Given the description of an element on the screen output the (x, y) to click on. 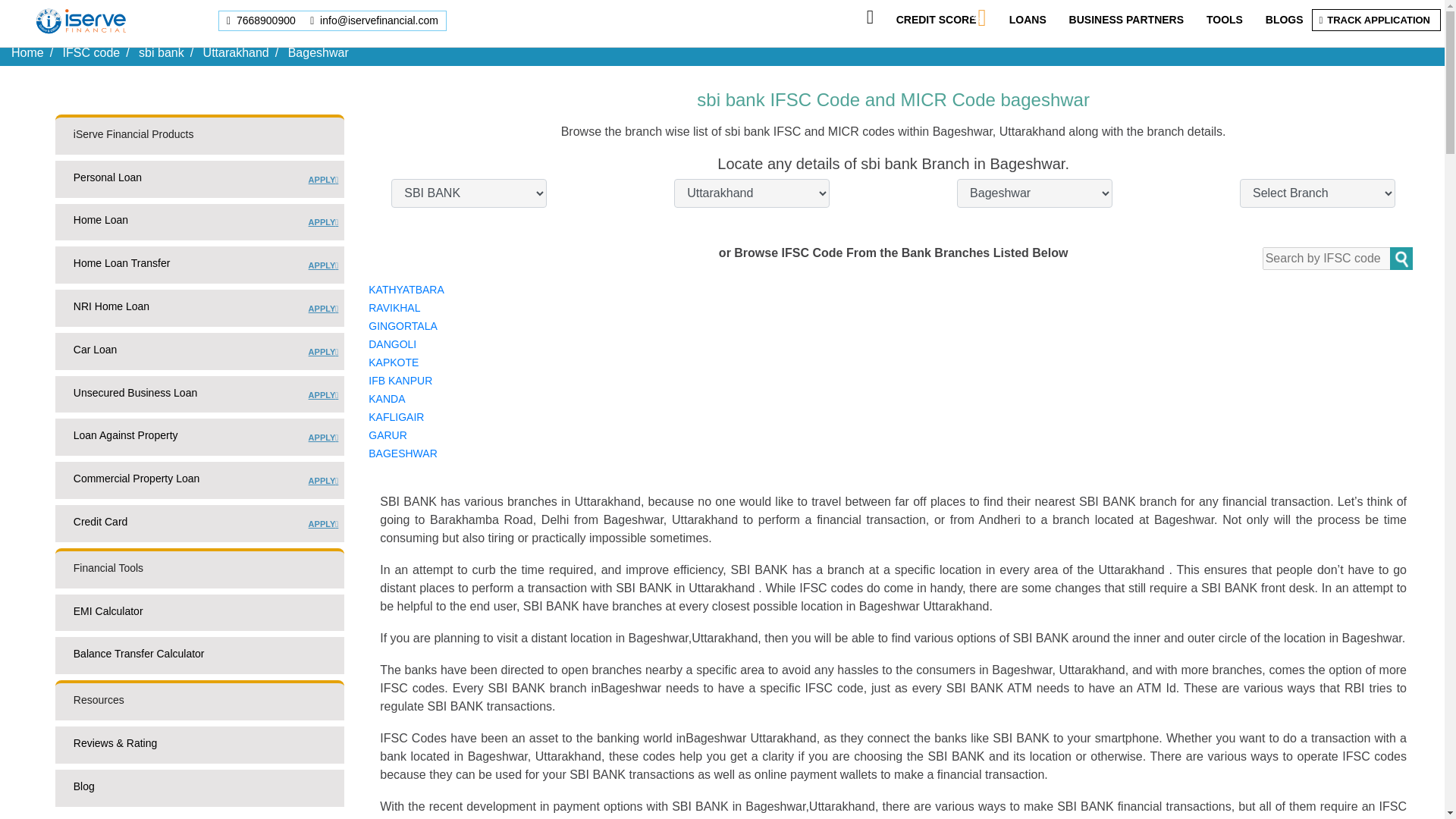
Uttarakhand (236, 51)
Home (27, 51)
CREDIT SCORE (199, 267)
IFSC code (199, 310)
BLOGS (936, 19)
TRACK APPLICATION (91, 51)
sbi bank (199, 225)
